Given the description of an element on the screen output the (x, y) to click on. 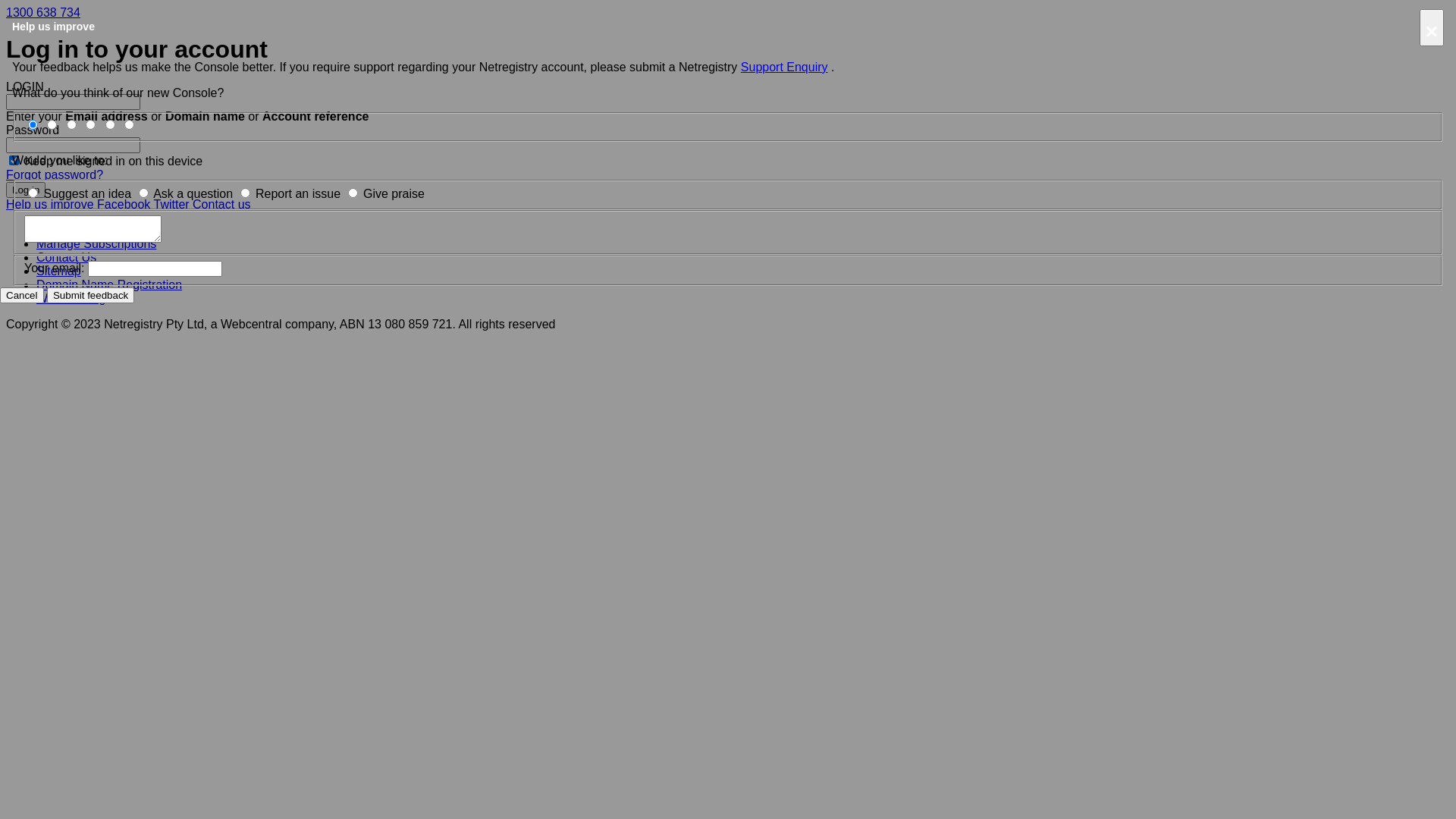
Domain Name Registration Element type: text (109, 284)
Support Enquiry Element type: text (784, 66)
Contact Us Element type: text (66, 257)
Contact us Element type: text (221, 203)
Forgot password? Element type: text (54, 174)
Web Hosting Element type: text (70, 297)
Terms & Conditions Element type: text (88, 229)
Twitter Element type: text (170, 203)
Facebook Element type: text (123, 203)
Manage Subscriptions Element type: text (96, 243)
Log in Element type: text (25, 189)
Sitemap Element type: text (58, 270)
Submit feedback Element type: text (90, 295)
Help us improve Element type: text (50, 203)
1300 638 734 Element type: text (43, 12)
Cancel Element type: text (21, 295)
